Given the description of an element on the screen output the (x, y) to click on. 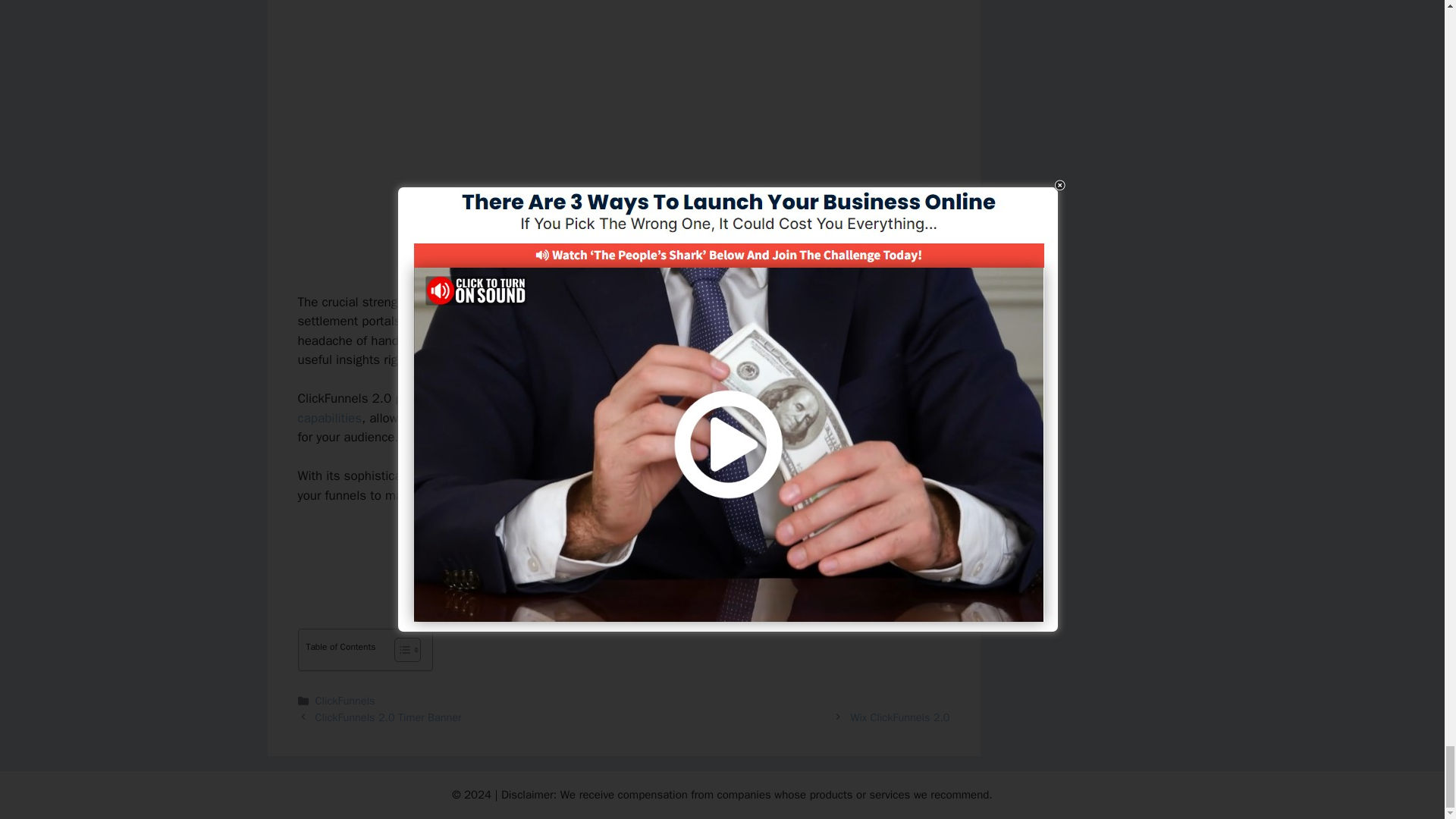
analytics and tracking (483, 475)
Begin Your ClickFunnels 2.0 Free Trial Now (624, 547)
data driven choices (744, 475)
